Given the description of an element on the screen output the (x, y) to click on. 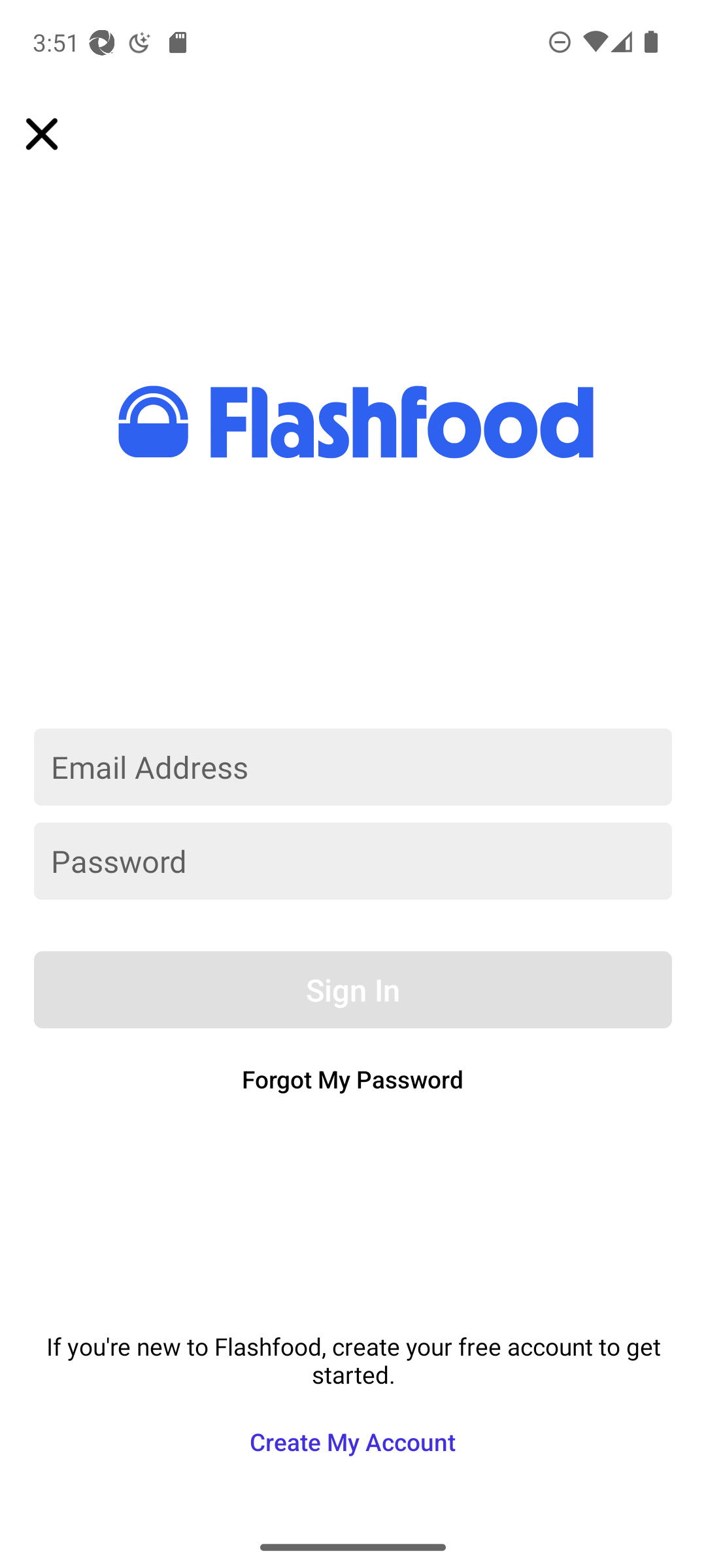
Close (57, 133)
Email Address (352, 767)
Password (352, 861)
Sign In (352, 989)
Forgot My Password (352, 1079)
Create My Account (352, 1441)
